Given the description of an element on the screen output the (x, y) to click on. 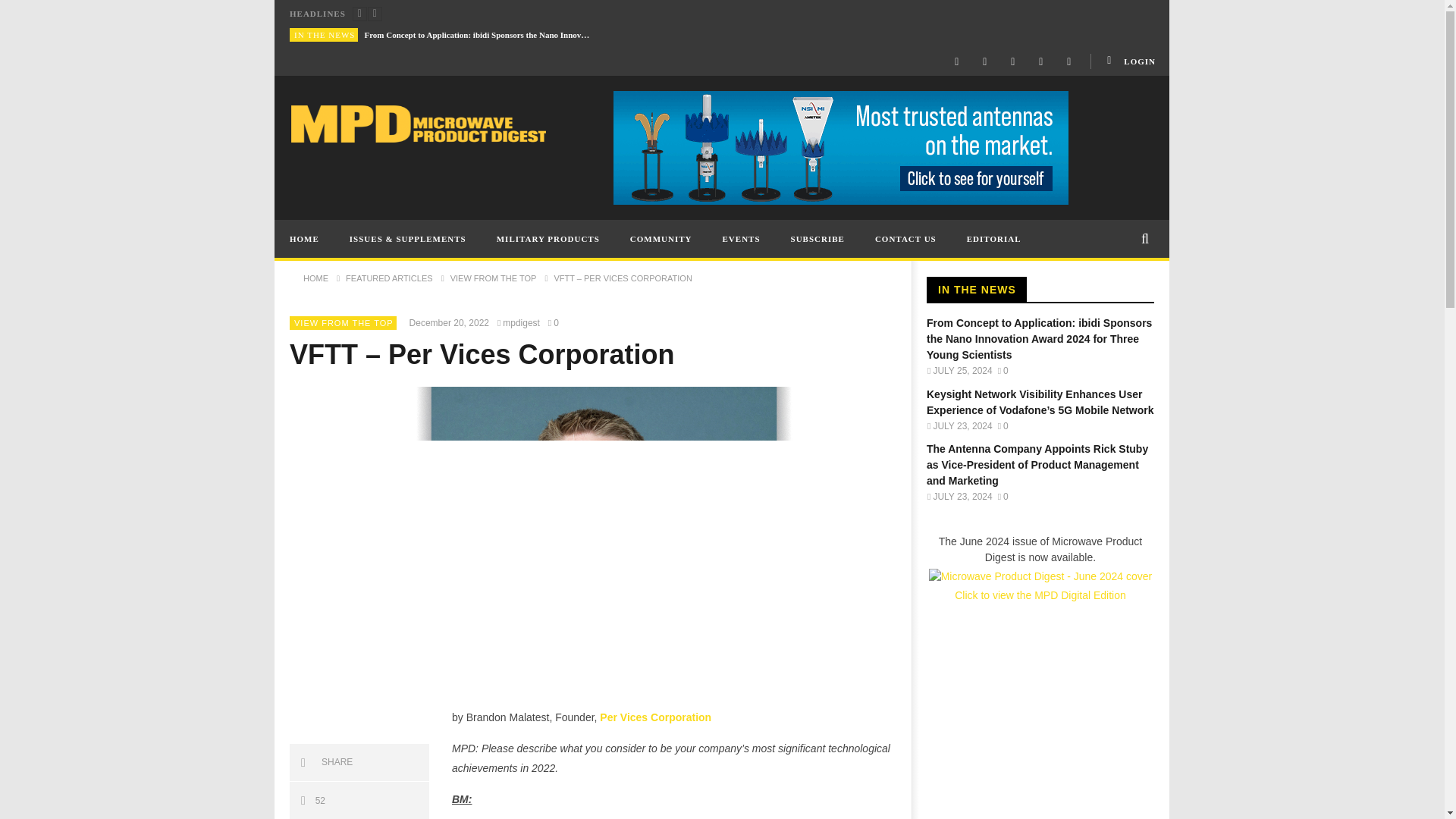
EVENTS (741, 238)
CONTACT US (906, 238)
COMMUNITY (660, 238)
SUBSCRIBE (818, 238)
View all posts in In The News (324, 34)
MILITARY PRODUCTS (547, 238)
EDITORIAL (994, 238)
IN THE NEWS (324, 34)
HOME (304, 238)
LOGIN (1129, 61)
